Given the description of an element on the screen output the (x, y) to click on. 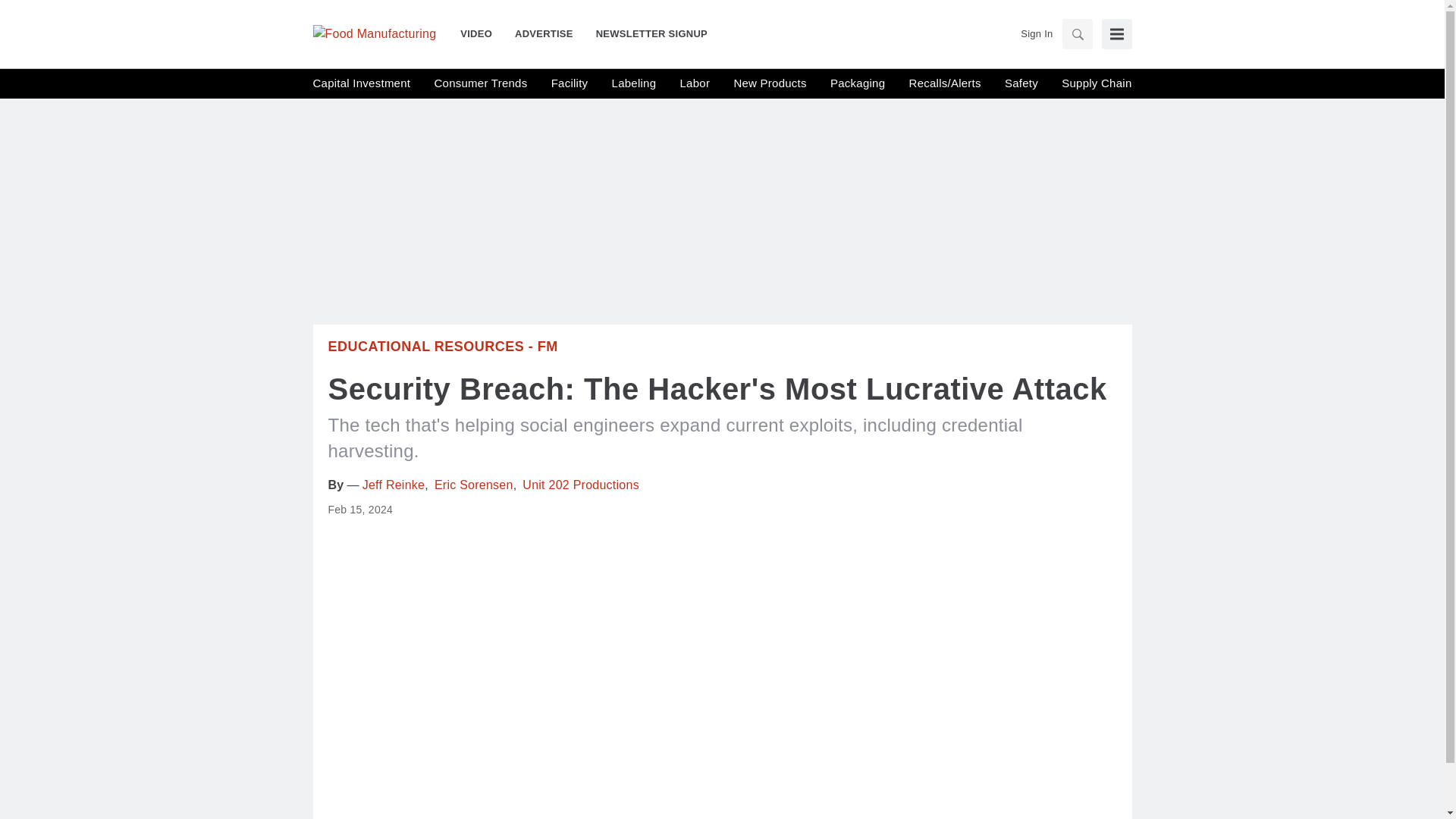
Educational Resources - FM (442, 346)
Supply Chain (1096, 83)
Sign In (1036, 33)
Labeling (633, 83)
Packaging (857, 83)
ADVERTISE (544, 33)
VIDEO (481, 33)
Facility (569, 83)
Capital Investment (361, 83)
NEWSLETTER SIGNUP (646, 33)
New Products (769, 83)
Labor (694, 83)
Consumer Trends (480, 83)
Safety (1021, 83)
